Given the description of an element on the screen output the (x, y) to click on. 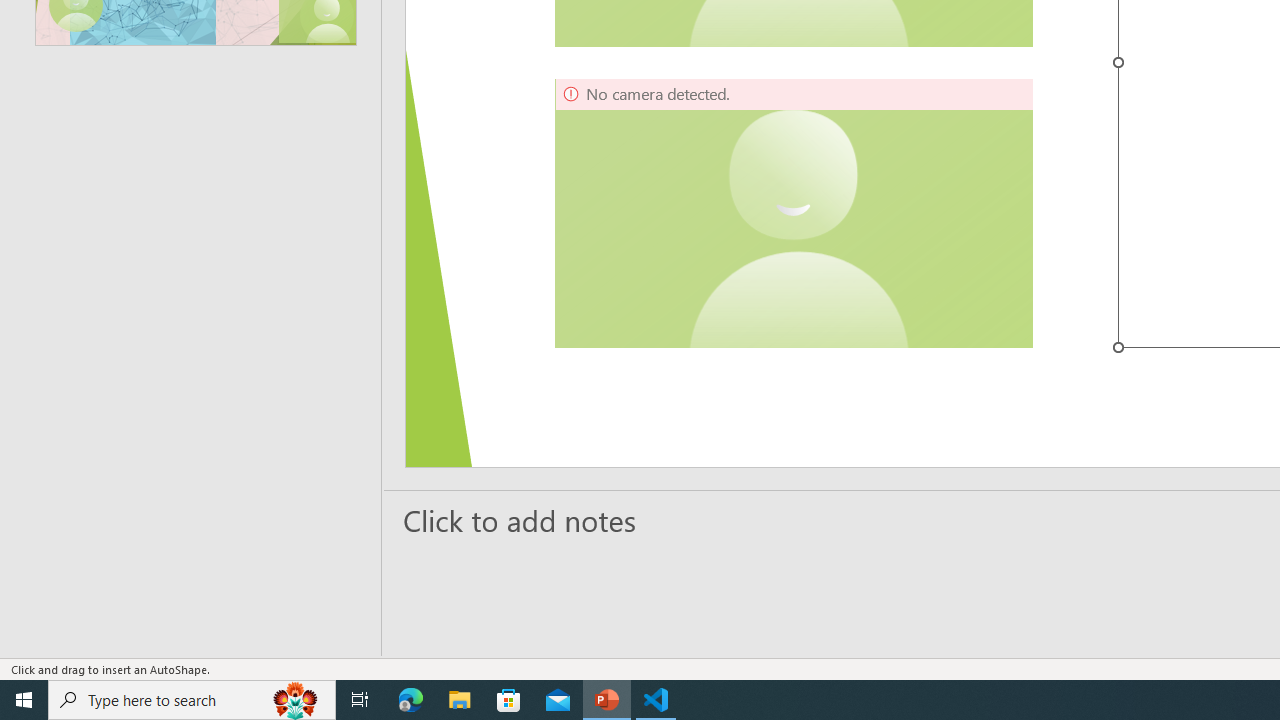
Camera 5, No camera detected. (794, 213)
